Given the description of an element on the screen output the (x, y) to click on. 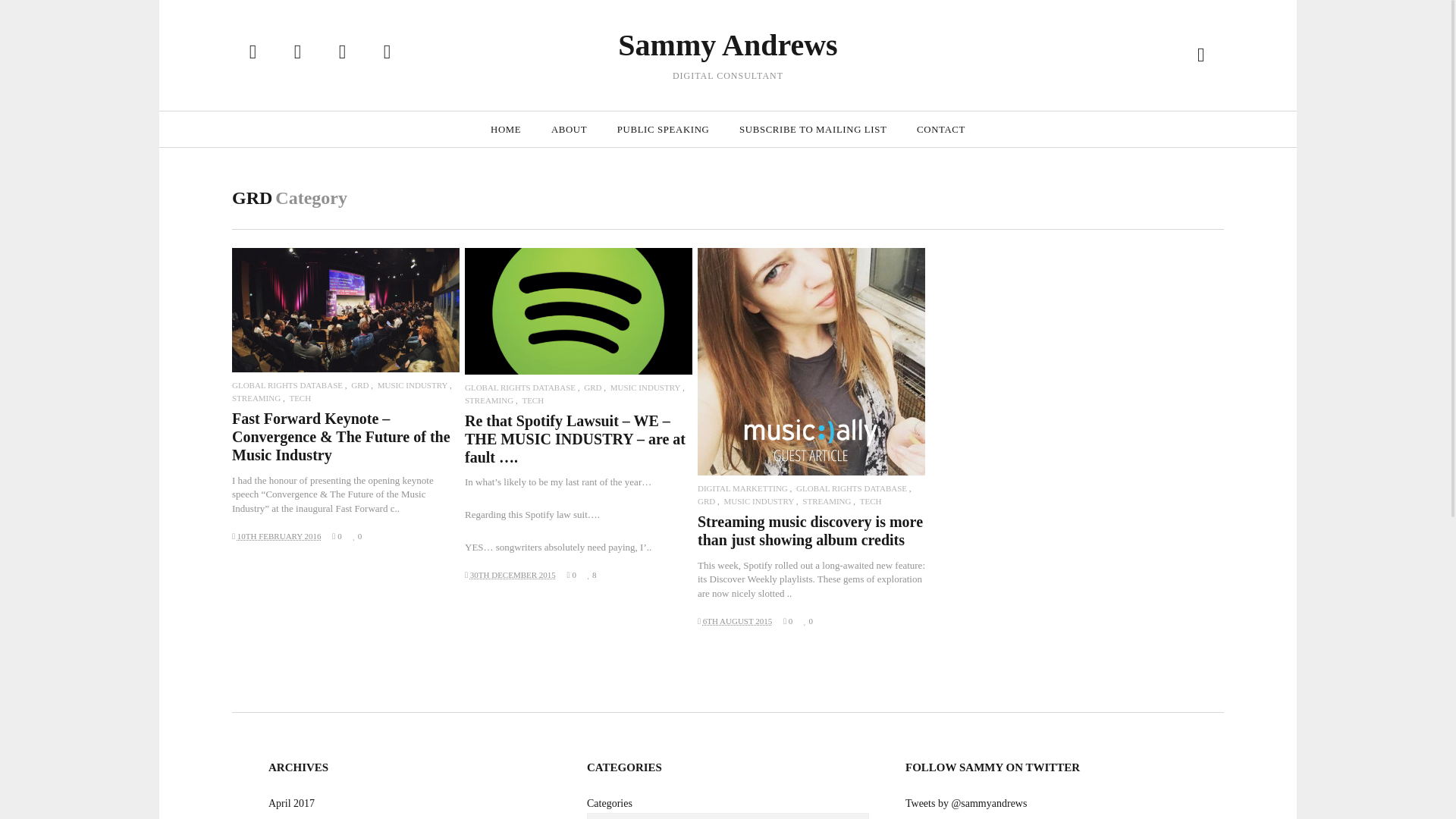
View all posts in Music Industry (645, 388)
CONTACT (941, 128)
GLOBAL RIGHTS DATABASE (286, 385)
GRD (705, 501)
View all posts in GRD (592, 388)
TECH (871, 501)
0 (337, 535)
GLOBAL RIGHTS DATABASE (851, 488)
View all posts in Music Industry (412, 385)
View all posts in Streaming (488, 400)
View all posts in Global Rights Database (519, 388)
View all posts in Streaming (256, 397)
GRD (359, 385)
View all posts in Tech (532, 400)
